Given the description of an element on the screen output the (x, y) to click on. 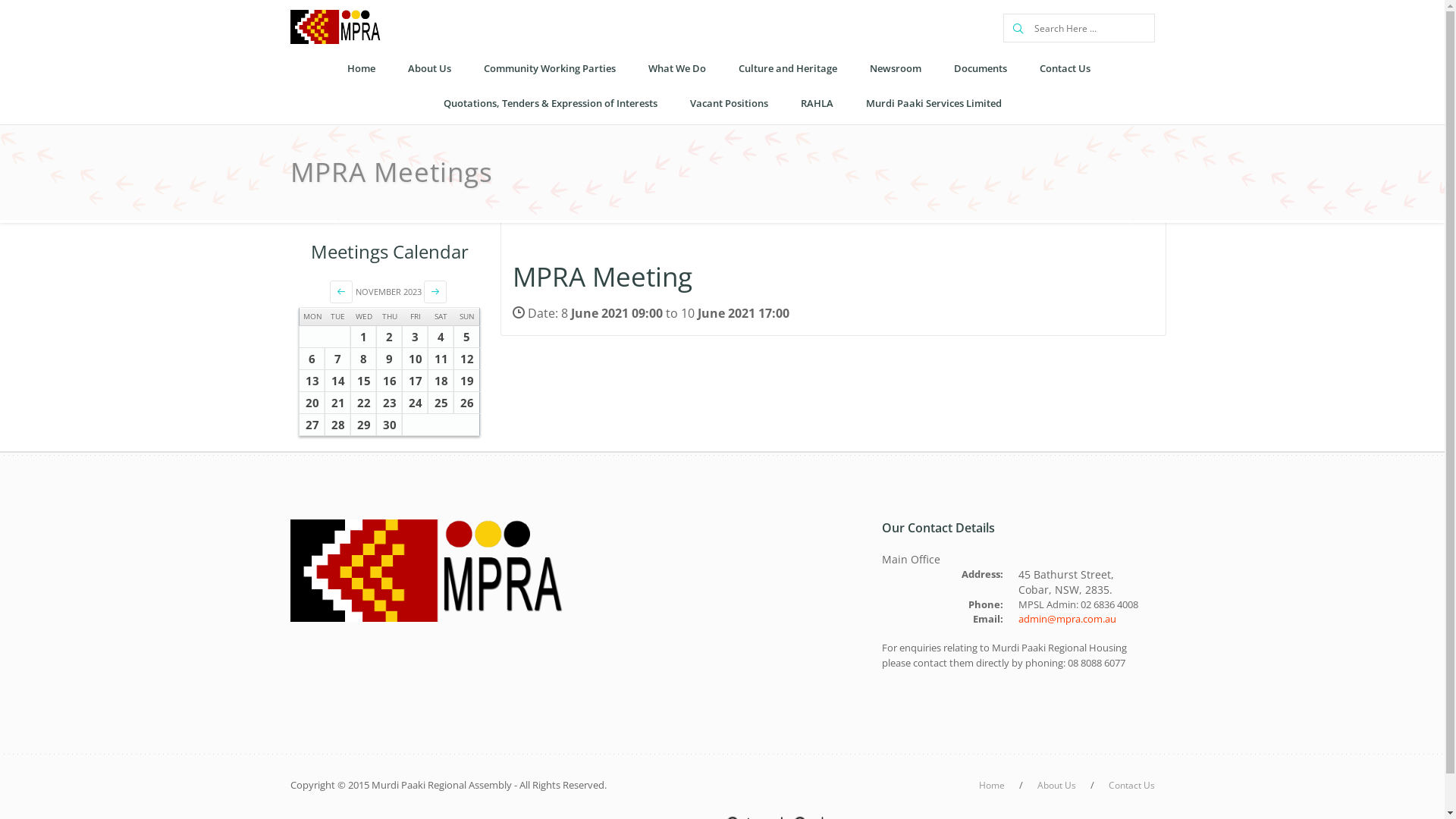
Documents Element type: text (979, 68)
Contact Us Element type: text (1064, 68)
Community Working Parties Element type: text (548, 68)
Home Element type: text (991, 784)
Home Element type: text (360, 68)
Contact Us Element type: text (1131, 784)
RAHLA Element type: text (816, 102)
Quotations, Tenders & Expression of Interests Element type: text (550, 102)
admin@mpra.com.au Element type: text (1066, 618)
Murdi Paaki Services Limited Element type: text (932, 102)
Culture and Heritage Element type: text (786, 68)
Newsroom Element type: text (895, 68)
Vacant Positions Element type: text (727, 102)
About Us Element type: text (428, 68)
About Us Element type: text (1056, 784)
What We Do Element type: text (677, 68)
